Given the description of an element on the screen output the (x, y) to click on. 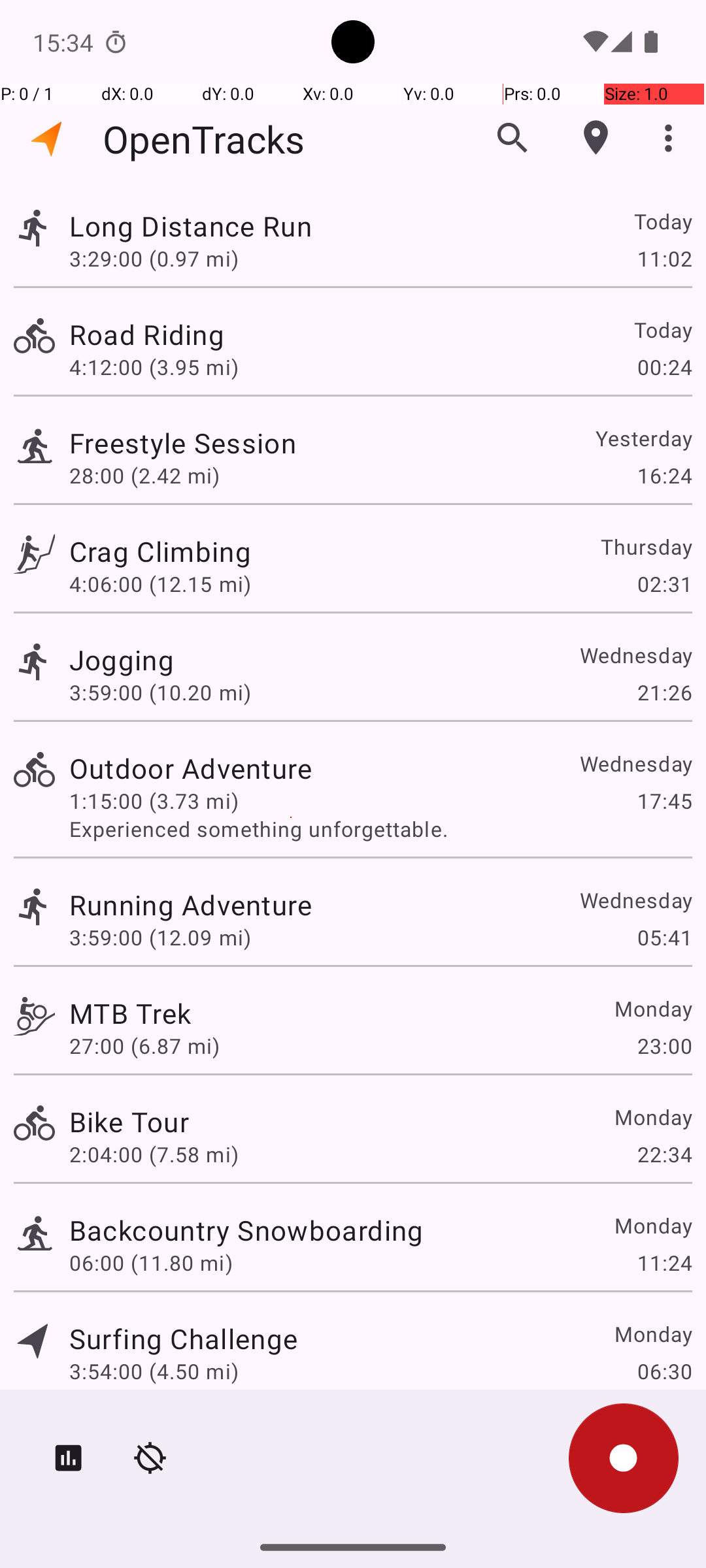
Long Distance Run Element type: android.widget.TextView (190, 225)
3:29:00 (0.97 mi) Element type: android.widget.TextView (153, 258)
11:02 Element type: android.widget.TextView (664, 258)
Road Riding Element type: android.widget.TextView (146, 333)
4:12:00 (3.95 mi) Element type: android.widget.TextView (153, 366)
00:24 Element type: android.widget.TextView (664, 366)
Freestyle Session Element type: android.widget.TextView (182, 442)
28:00 (2.42 mi) Element type: android.widget.TextView (144, 475)
16:24 Element type: android.widget.TextView (664, 475)
Crag Climbing Element type: android.widget.TextView (159, 550)
4:06:00 (12.15 mi) Element type: android.widget.TextView (159, 583)
02:31 Element type: android.widget.TextView (664, 583)
Jogging Element type: android.widget.TextView (121, 659)
3:59:00 (10.20 mi) Element type: android.widget.TextView (159, 692)
21:26 Element type: android.widget.TextView (664, 692)
1:15:00 (3.73 mi) Element type: android.widget.TextView (153, 800)
17:45 Element type: android.widget.TextView (664, 800)
Experienced something unforgettable. Element type: android.widget.TextView (380, 828)
Running Adventure Element type: android.widget.TextView (190, 904)
3:59:00 (12.09 mi) Element type: android.widget.TextView (159, 937)
05:41 Element type: android.widget.TextView (664, 937)
MTB Trek Element type: android.widget.TextView (129, 1012)
27:00 (6.87 mi) Element type: android.widget.TextView (144, 1045)
23:00 Element type: android.widget.TextView (664, 1045)
Bike Tour Element type: android.widget.TextView (128, 1121)
2:04:00 (7.58 mi) Element type: android.widget.TextView (153, 1154)
22:34 Element type: android.widget.TextView (664, 1154)
Backcountry Snowboarding Element type: android.widget.TextView (246, 1229)
06:00 (11.80 mi) Element type: android.widget.TextView (150, 1262)
11:24 Element type: android.widget.TextView (664, 1262)
Surfing Challenge Element type: android.widget.TextView (183, 1337)
3:54:00 (4.50 mi) Element type: android.widget.TextView (153, 1370)
06:30 Element type: android.widget.TextView (664, 1370)
